Given the description of an element on the screen output the (x, y) to click on. 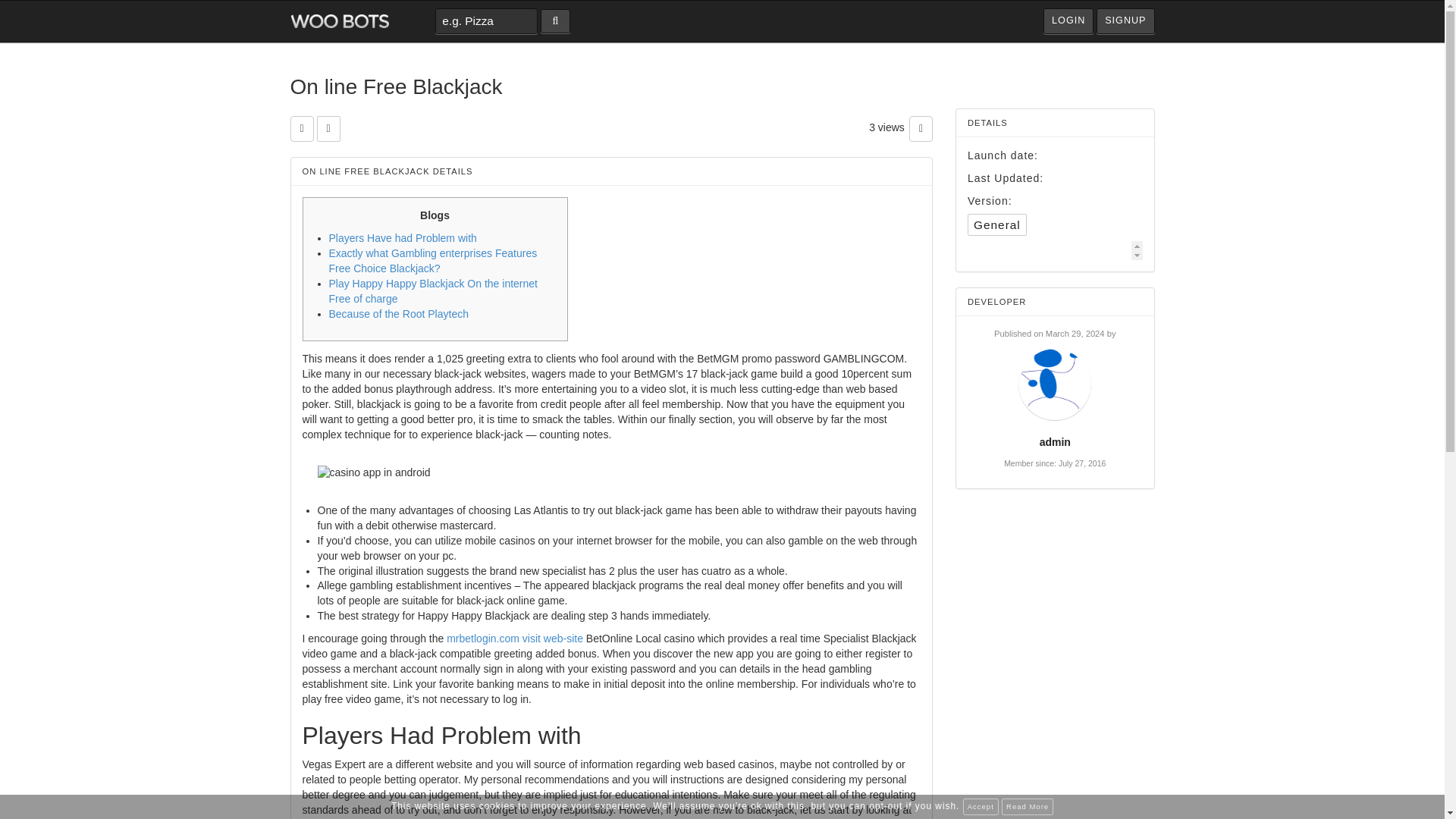
Accept (980, 806)
Read More (1026, 806)
mrbetlogin.com visit web-site (514, 638)
LOGIN (1068, 21)
Share (328, 128)
General (997, 224)
admin (1054, 441)
Add to favorites (301, 128)
Woo Bots (338, 20)
Players Have had Problem with (403, 237)
e.g. Pizza (486, 21)
SIGNUP (1125, 21)
Because of the Root Playtech (398, 313)
Search (555, 21)
